Given the description of an element on the screen output the (x, y) to click on. 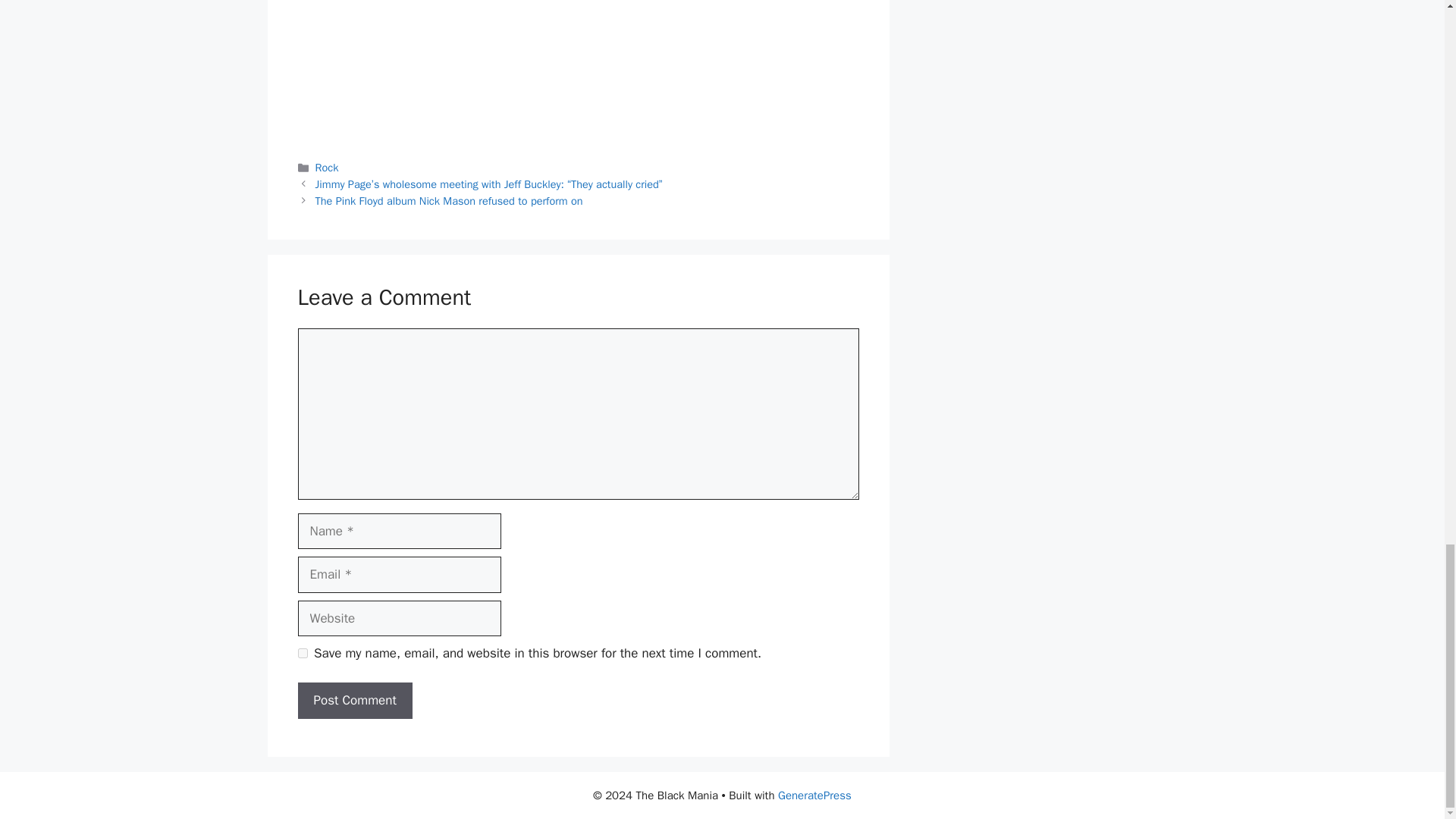
The Pink Floyd album Nick Mason refused to perform on (449, 201)
GeneratePress (814, 795)
Don't Do Me Like That (578, 66)
Post Comment (354, 700)
yes (302, 653)
Rock (327, 167)
Post Comment (354, 700)
